Given the description of an element on the screen output the (x, y) to click on. 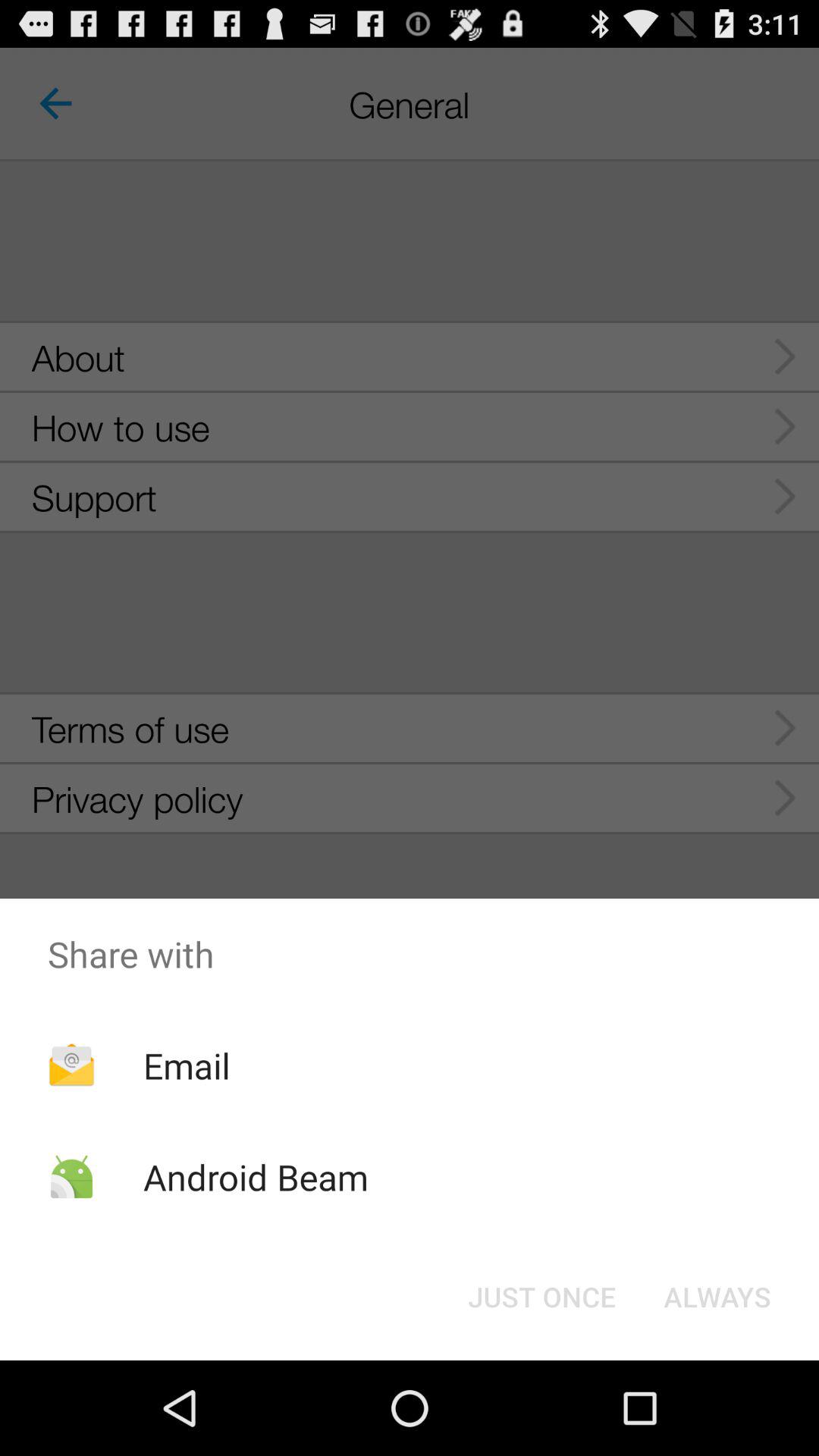
select button at the bottom right corner (717, 1296)
